Given the description of an element on the screen output the (x, y) to click on. 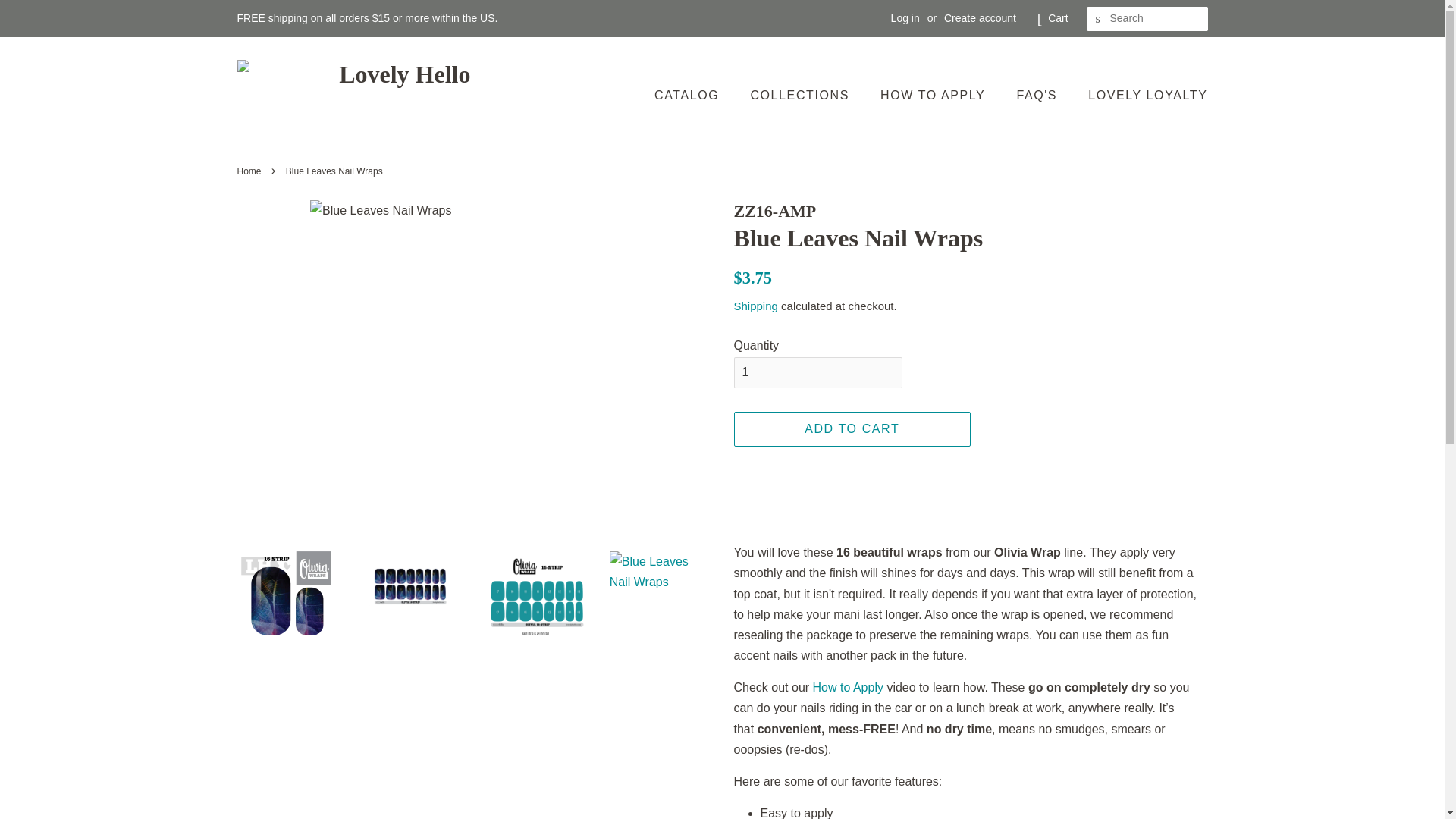
FAQ'S (1037, 94)
Create account (979, 18)
ADD TO CART (852, 429)
Log in (905, 18)
How to Apply (847, 686)
HOW TO APPLY (934, 94)
COLLECTIONS (801, 94)
1 (817, 372)
CATALOG (693, 94)
SEARCH (1097, 18)
Back to the frontpage (249, 171)
LOVELY LOYALTY (1142, 94)
Home (249, 171)
How to Apply Nail Wraps (847, 686)
Cart (1057, 18)
